Given the description of an element on the screen output the (x, y) to click on. 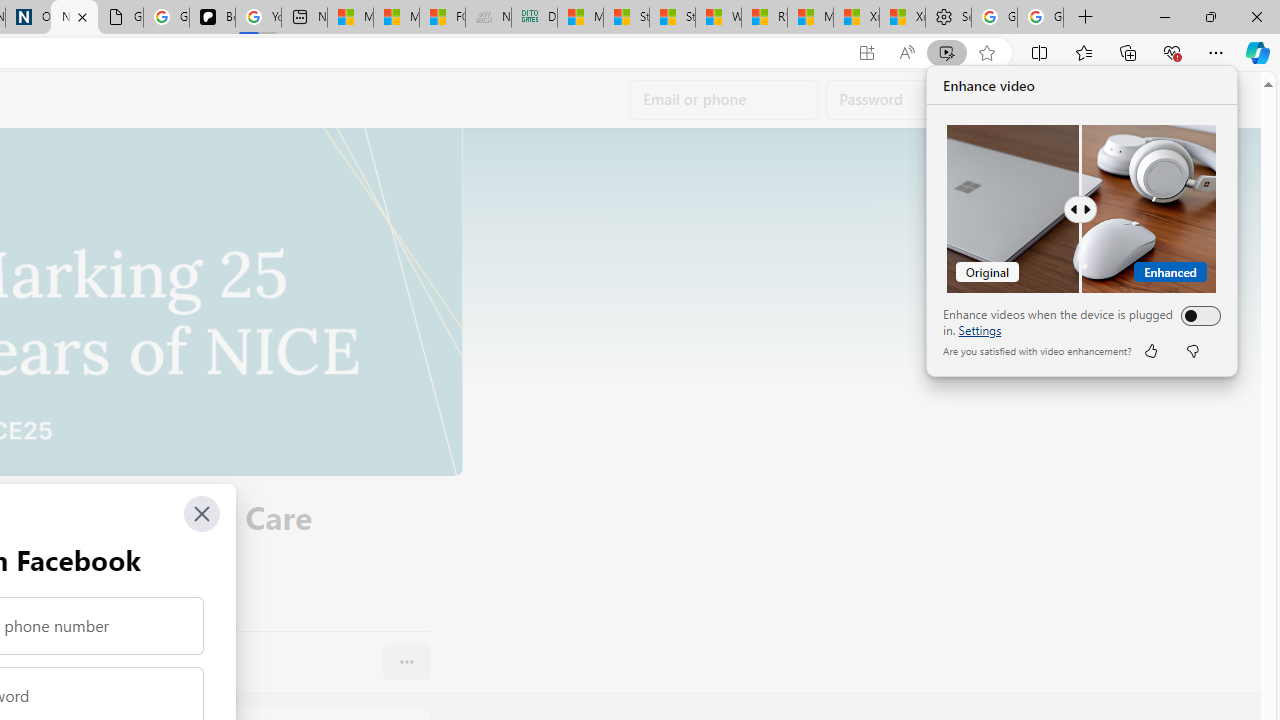
Google Analytics Opt-out Browser Add-on Download Page (120, 17)
R******* | Trusted Community Engagement and Contributions (764, 17)
Comparision (1081, 209)
Dislike (1192, 350)
Settings (948, 17)
Microsoft Start (810, 17)
Be Smart | creating Science videos | Patreon (212, 17)
Like (1150, 350)
Email or phone (724, 99)
Stocks - MSN (672, 17)
Minimize (1164, 16)
